Given the description of an element on the screen output the (x, y) to click on. 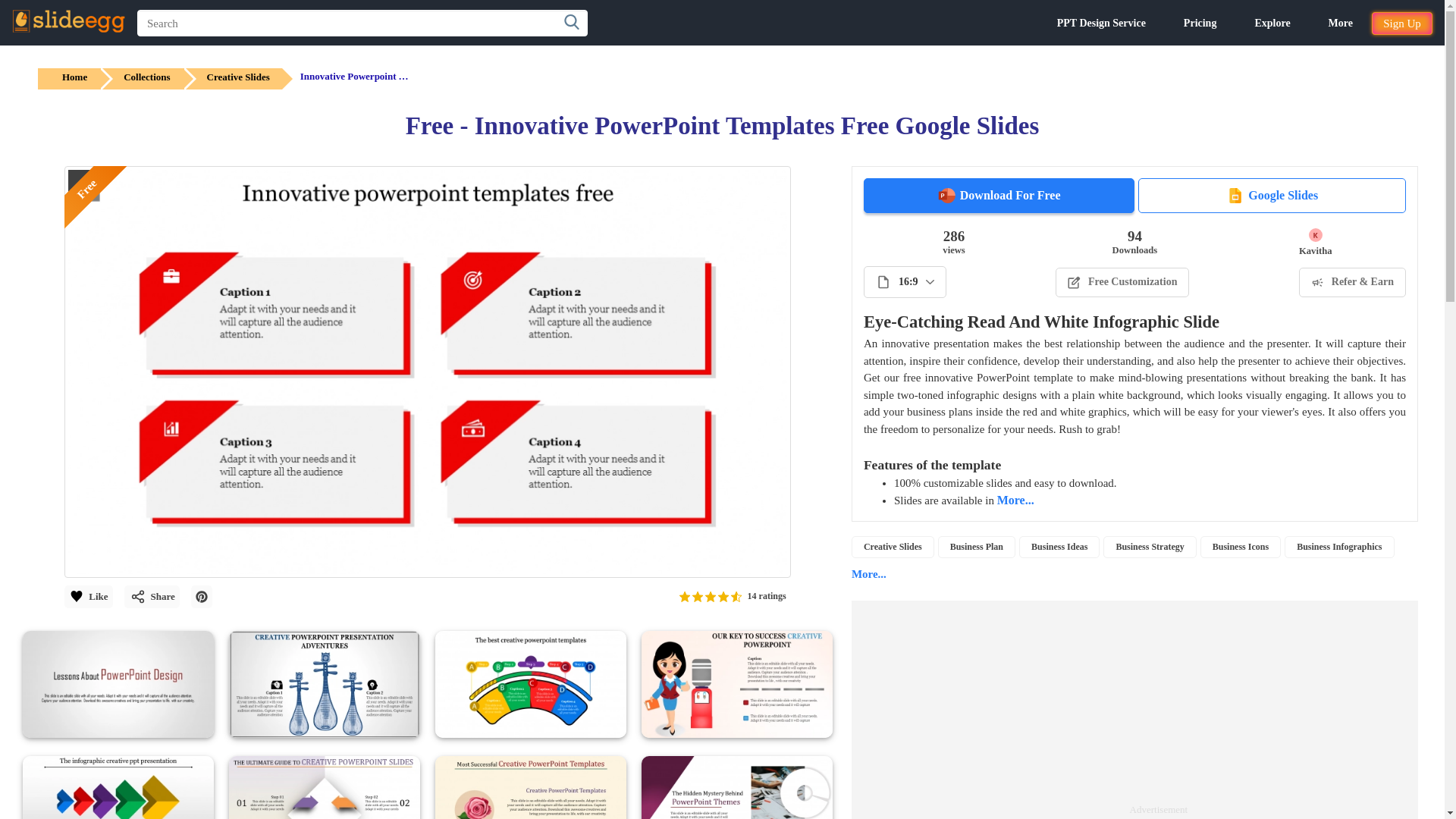
Pricing (1200, 22)
PPT Design Service (1101, 22)
Explore (1271, 22)
SlideEgg (68, 21)
